Given the description of an element on the screen output the (x, y) to click on. 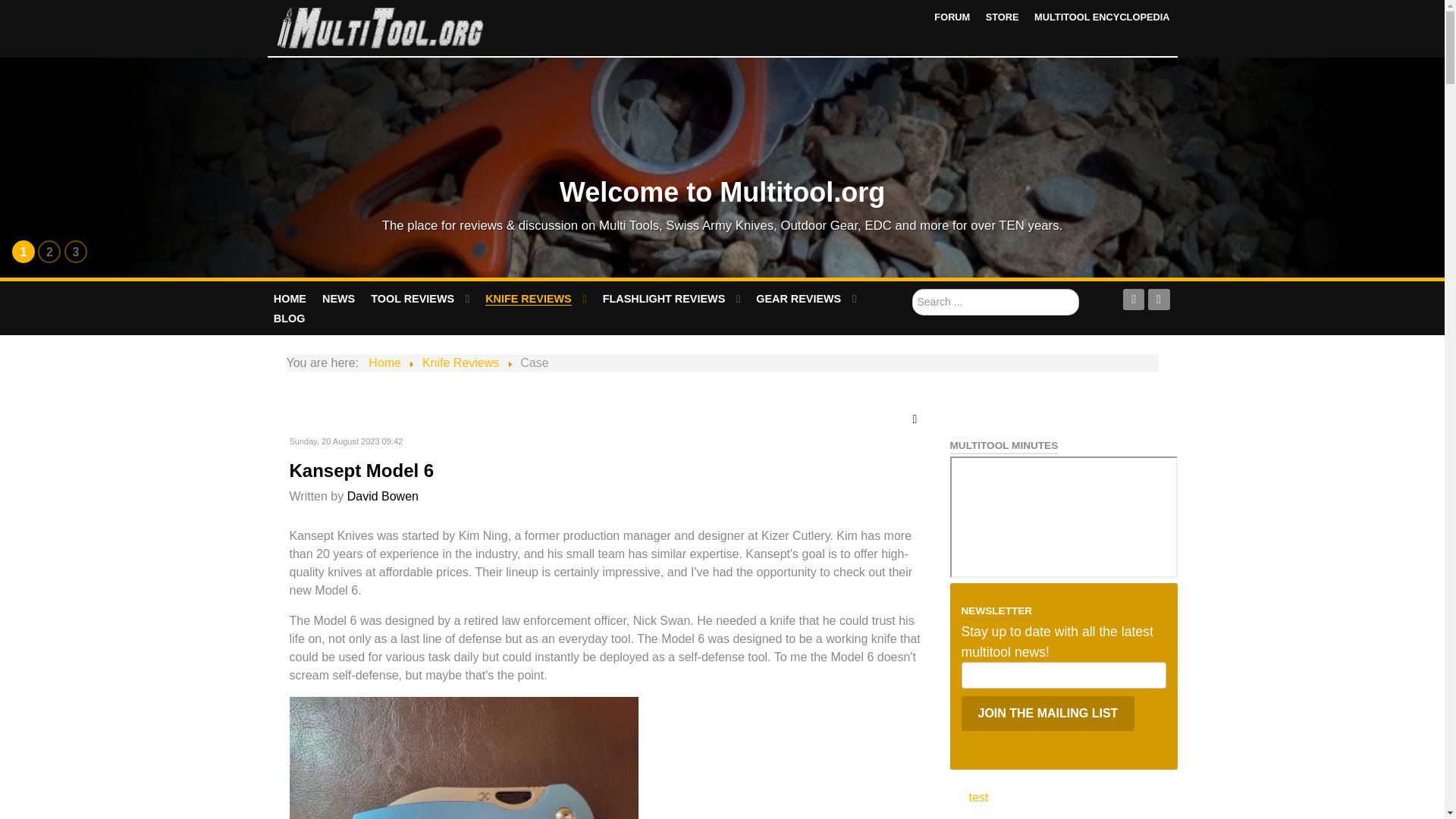
MULTITOOL ENCYCLOPEDIA (1101, 16)
Multitool Encyclopedia (1101, 16)
Store (1002, 16)
TOOL REVIEWS (420, 298)
HOME (289, 298)
Subscribe to this RSS feed (918, 419)
Email Address... (1063, 674)
NEWS (339, 298)
Forum (951, 16)
FORUM (951, 16)
